Given the description of an element on the screen output the (x, y) to click on. 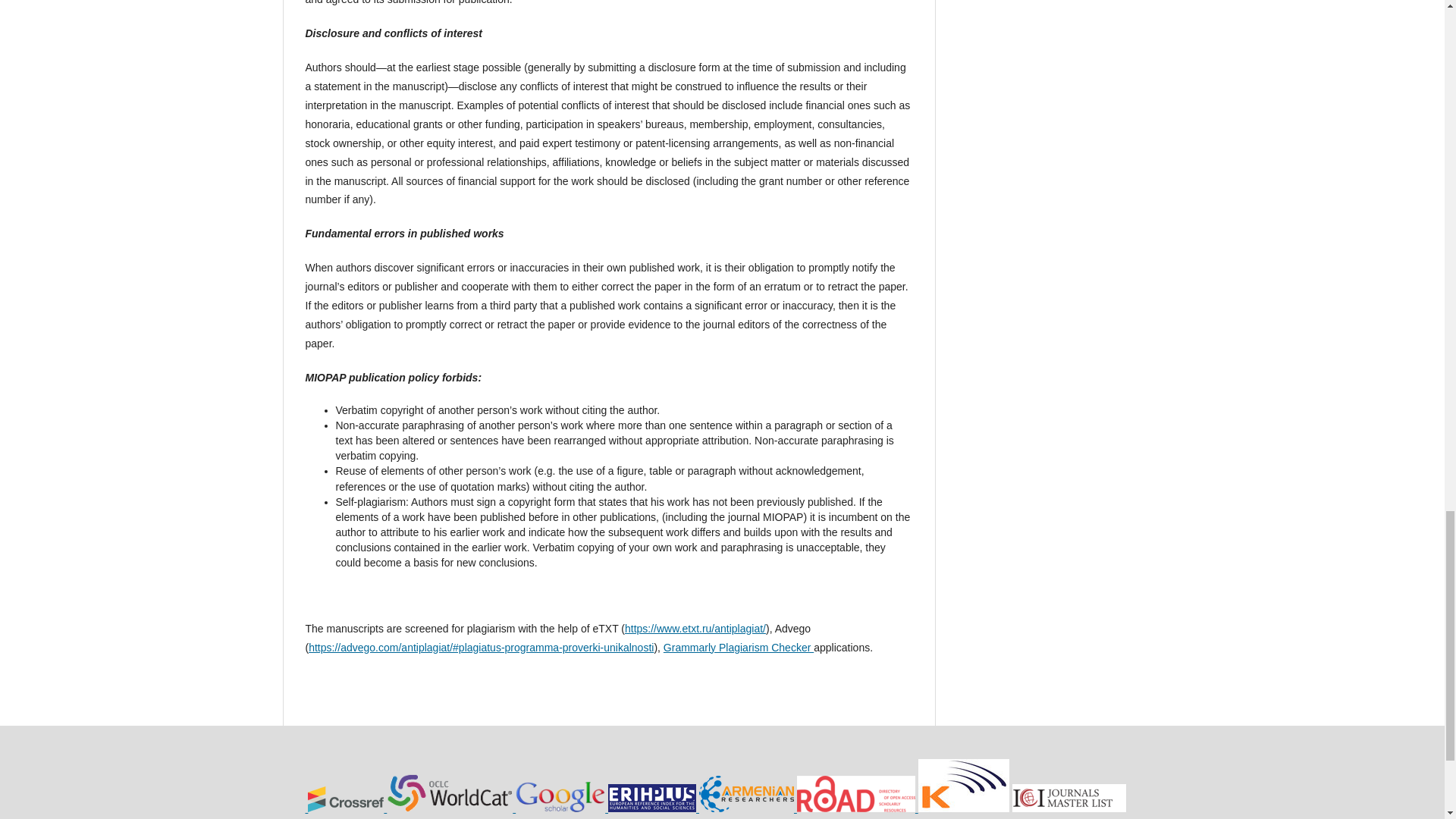
BOK (747, 808)
Grammarly Plagiarism Checker (738, 647)
Crossref (347, 808)
erihplus (653, 808)
ICI Journals Master (1068, 808)
Google Scholar (561, 808)
WorldCat (451, 808)
